Given the description of an element on the screen output the (x, y) to click on. 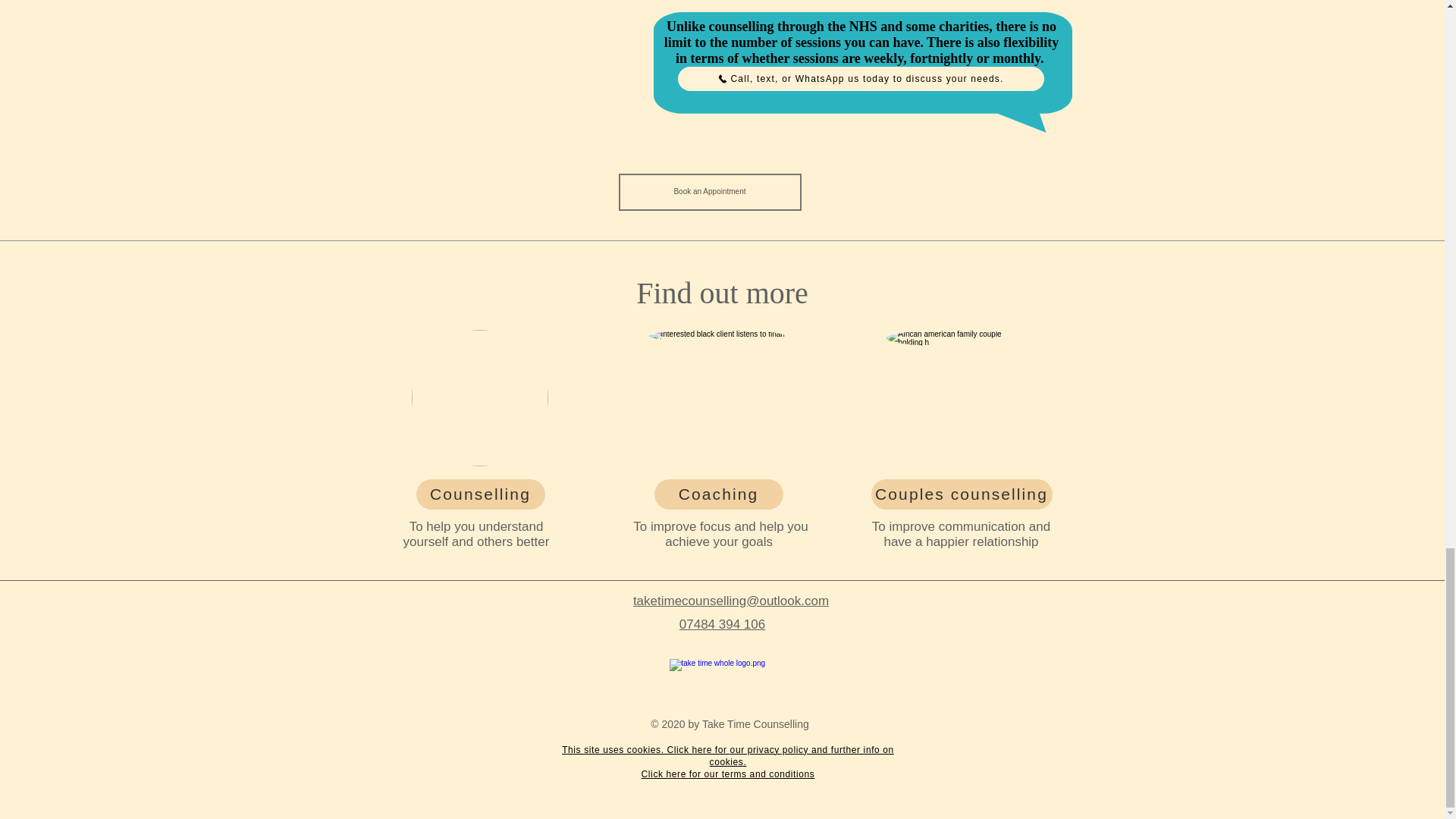
Couples counselling (960, 494)
Click here for our terms and conditions (728, 774)
Book an Appointment (710, 191)
Call, text, or WhatsApp us today to discuss your needs. (860, 78)
Counseling (478, 398)
Consultation (717, 398)
Young Women Brainstorming (953, 398)
07484 394 106 (722, 624)
Counselling (479, 494)
